Given the description of an element on the screen output the (x, y) to click on. 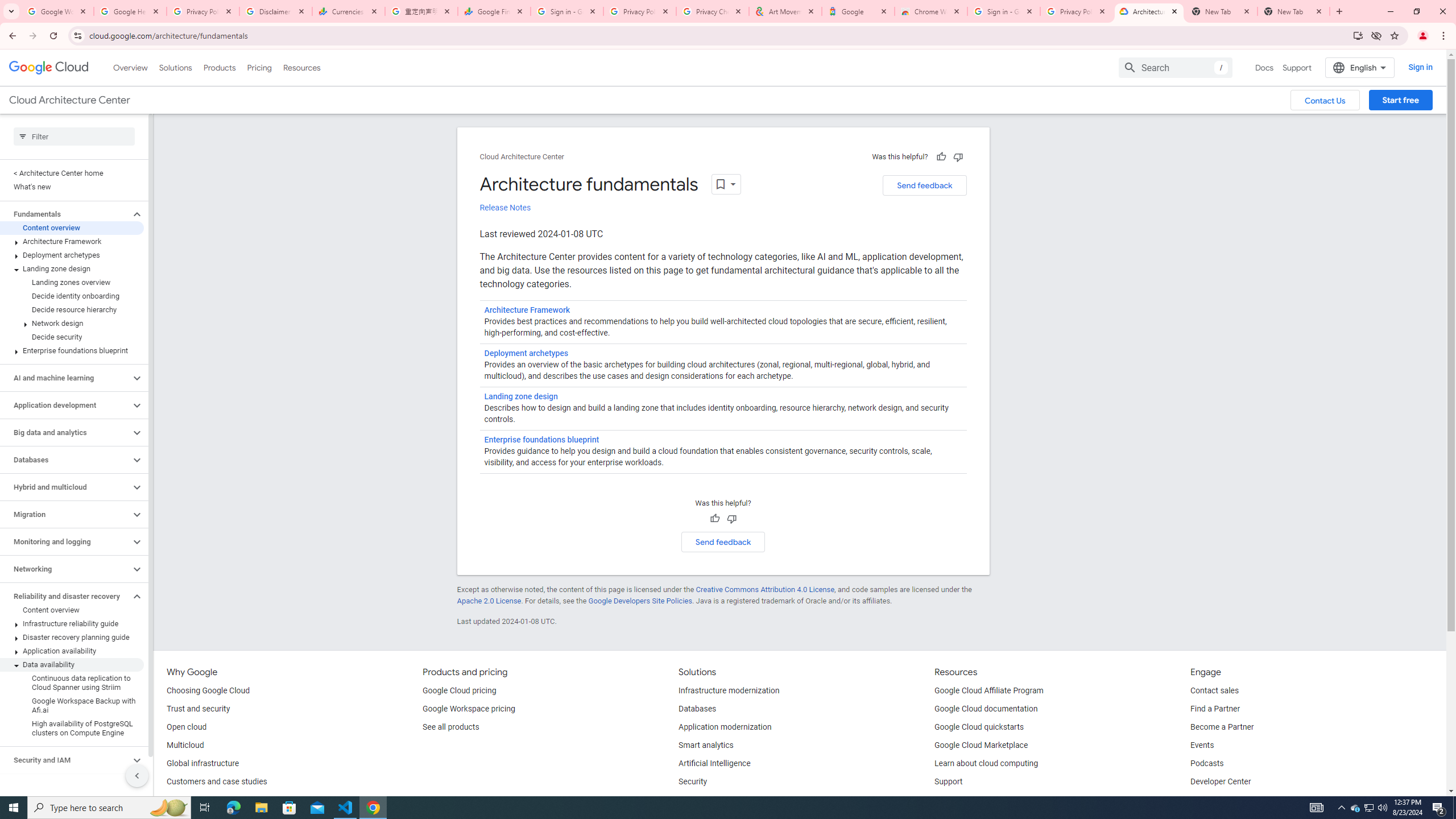
Start free (1400, 100)
Data availability (72, 664)
Architecture Framework (72, 241)
Fundamentals (64, 214)
Architecture Framework (526, 310)
Trust and security (197, 709)
Chrome Web Store - Color themes by Chrome (930, 11)
Become a Partner (1222, 727)
Choosing Google Cloud (207, 691)
Solutions (175, 67)
Cloud Architecture Center (521, 156)
Continuous data replication to Cloud Spanner using Striim (72, 682)
